Given the description of an element on the screen output the (x, y) to click on. 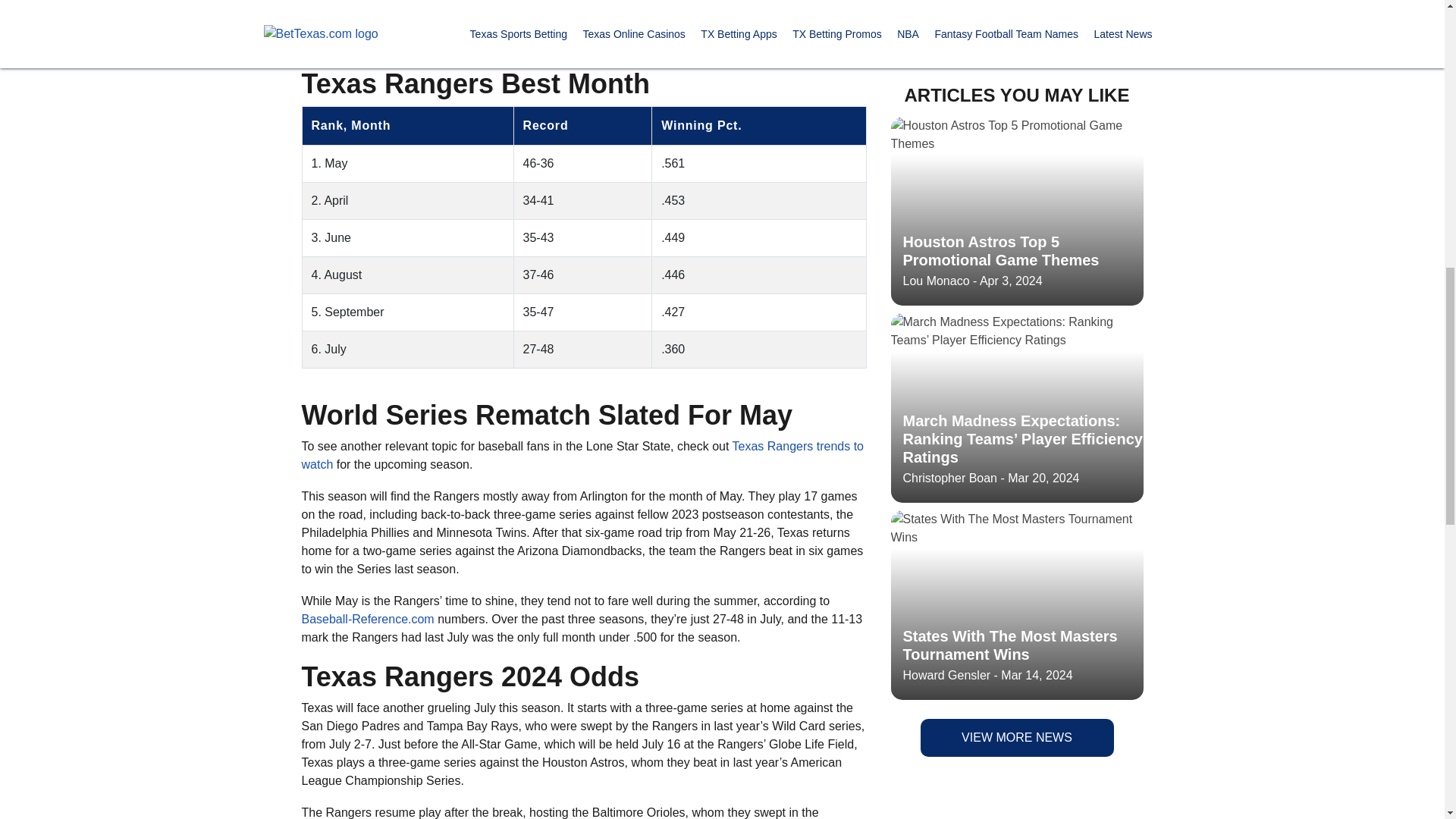
States With The Most Masters Tournament Wins (1015, 48)
